Given the description of an element on the screen output the (x, y) to click on. 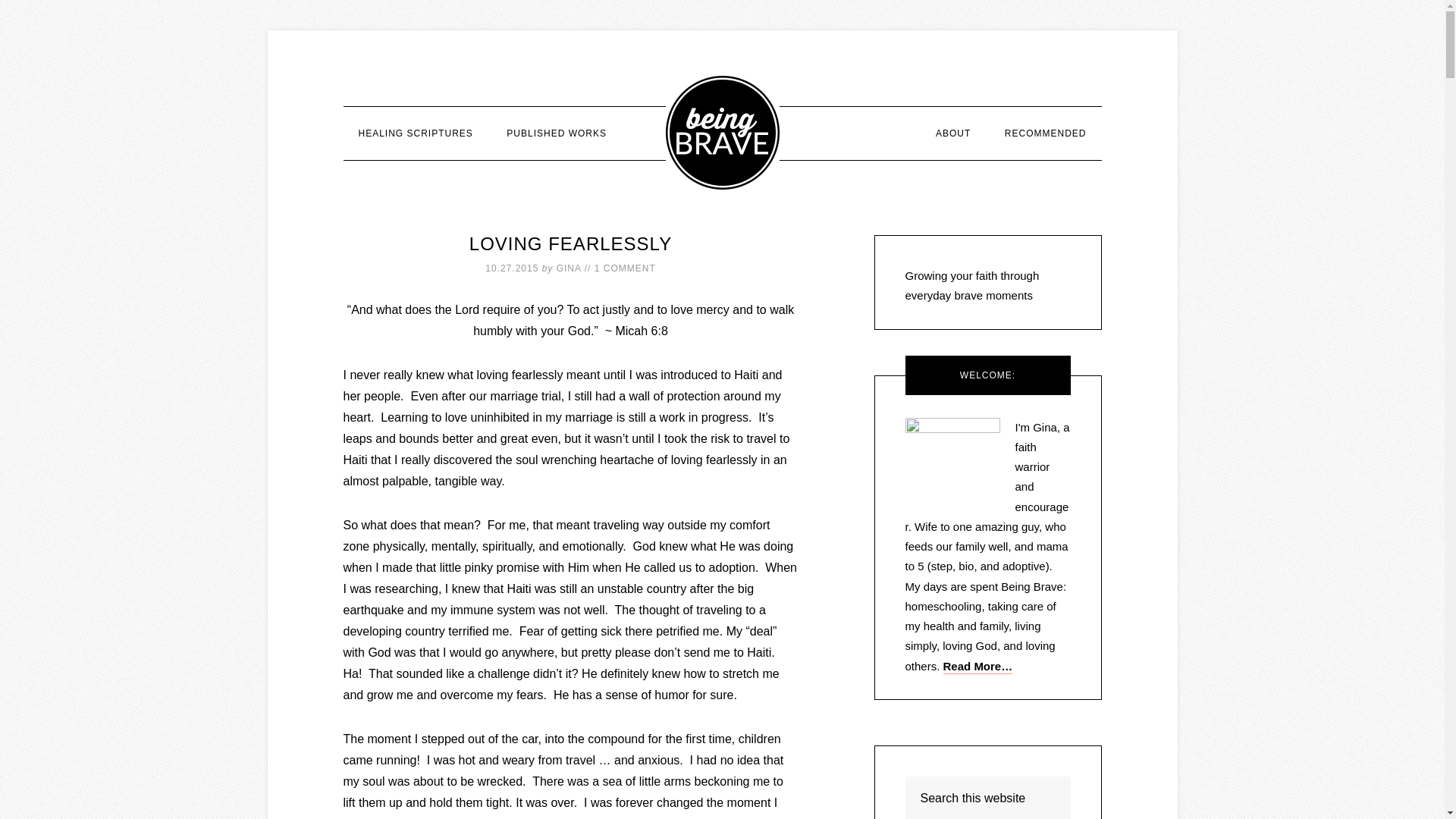
BEING BRAVE (721, 132)
LOVING FEARLESSLY (569, 243)
GINA (568, 267)
PUBLISHED WORKS (556, 133)
RECOMMENDED (1046, 133)
ABOUT (952, 133)
HEALING SCRIPTURES (414, 133)
1 COMMENT (625, 267)
